Given the description of an element on the screen output the (x, y) to click on. 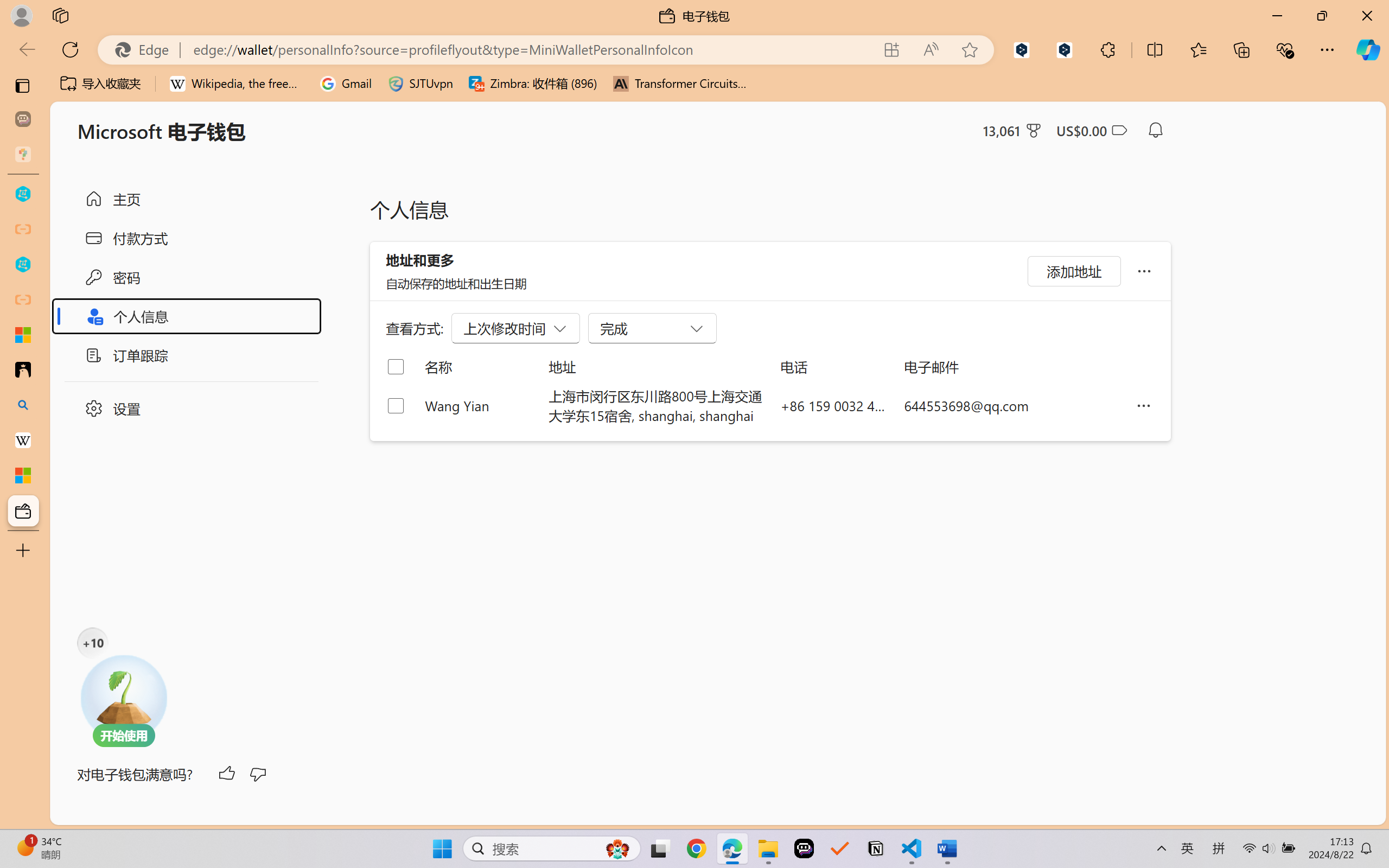
Earth - Wikipedia (22, 440)
Wikipedia, the free encyclopedia (236, 83)
Class: ___1lmltc5 f1agt3bx f12qytpq (1118, 130)
Wang Yian (478, 405)
